Given the description of an element on the screen output the (x, y) to click on. 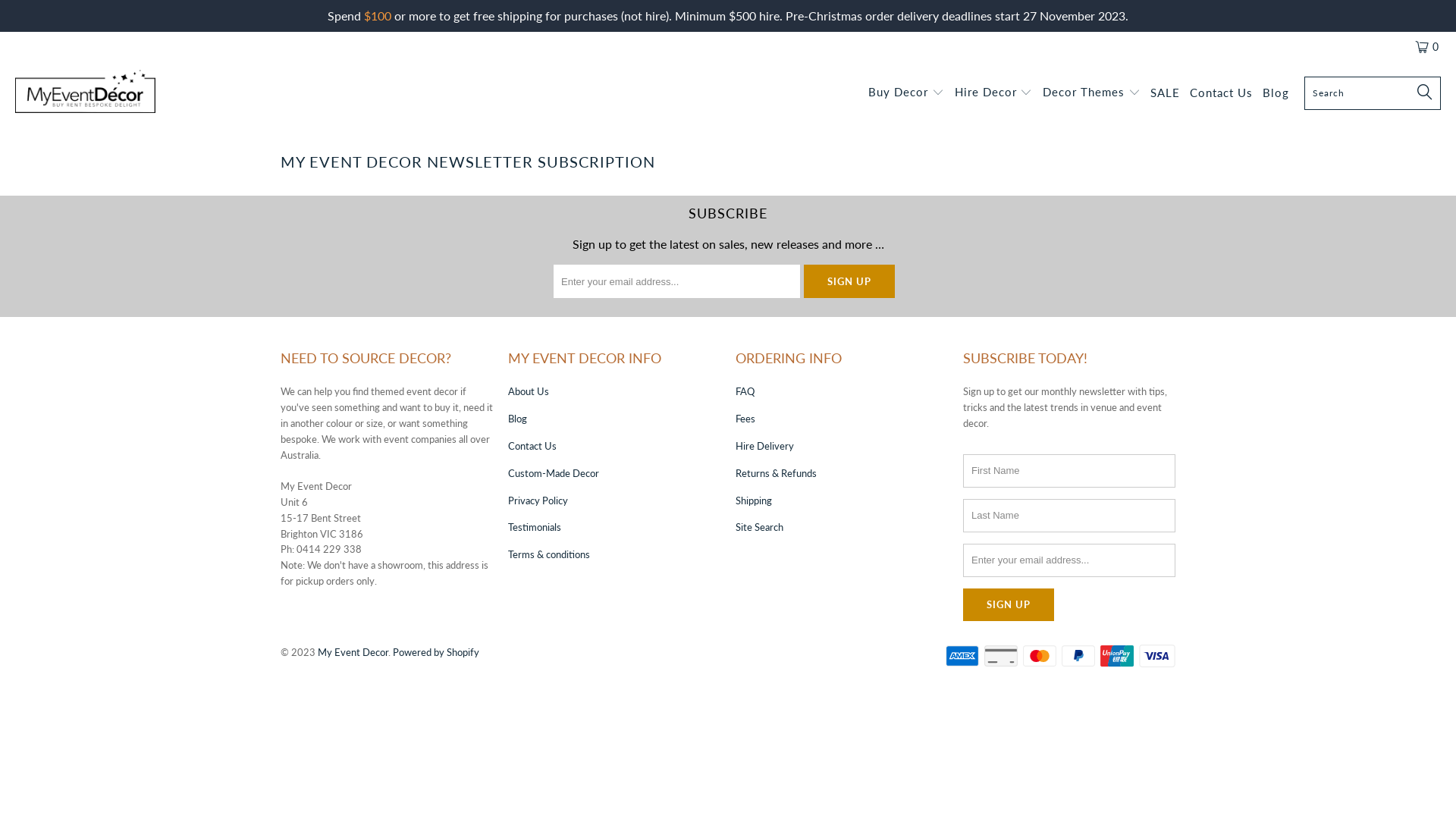
Returns & Refunds Element type: text (775, 473)
Sign Up Element type: text (848, 281)
Site Search Element type: text (759, 526)
Contact Us Element type: text (532, 445)
Contact Us Element type: text (1220, 93)
Sign Up Element type: text (1008, 604)
Blog Element type: text (517, 418)
Blog Element type: text (1275, 93)
Shipping Element type: text (753, 500)
Testimonials Element type: text (534, 526)
My Event Decor Element type: hover (85, 93)
My Event Decor Element type: text (352, 652)
Fees Element type: text (745, 418)
Custom-Made Decor Element type: text (553, 473)
Hire Delivery Element type: text (764, 445)
About Us Element type: text (528, 391)
Terms & conditions Element type: text (548, 554)
FAQ Element type: text (744, 391)
Privacy Policy Element type: text (537, 500)
Powered by Shopify Element type: text (435, 652)
SALE Element type: text (1164, 93)
